Given the description of an element on the screen output the (x, y) to click on. 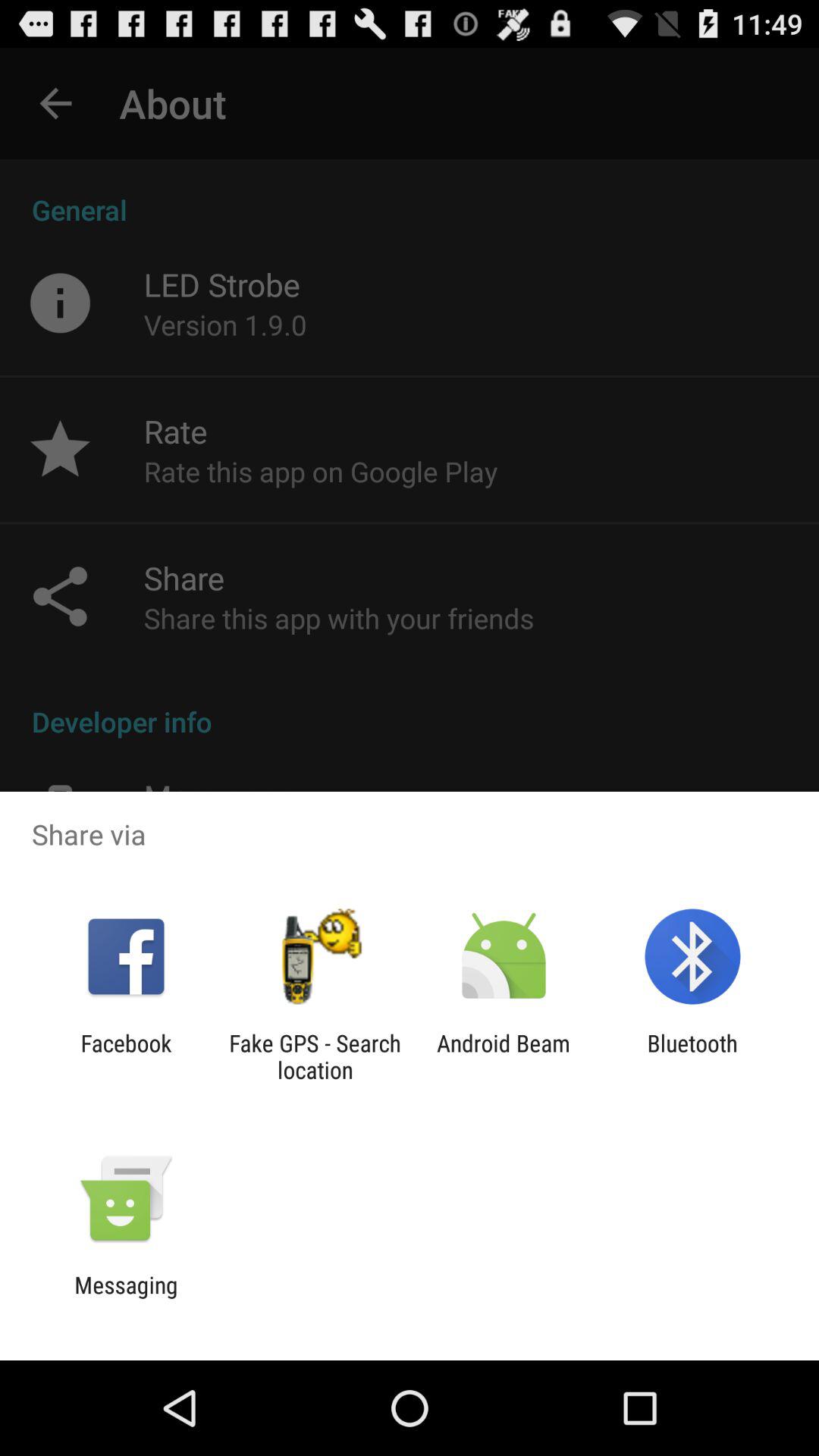
select icon to the right of the android beam icon (692, 1056)
